Given the description of an element on the screen output the (x, y) to click on. 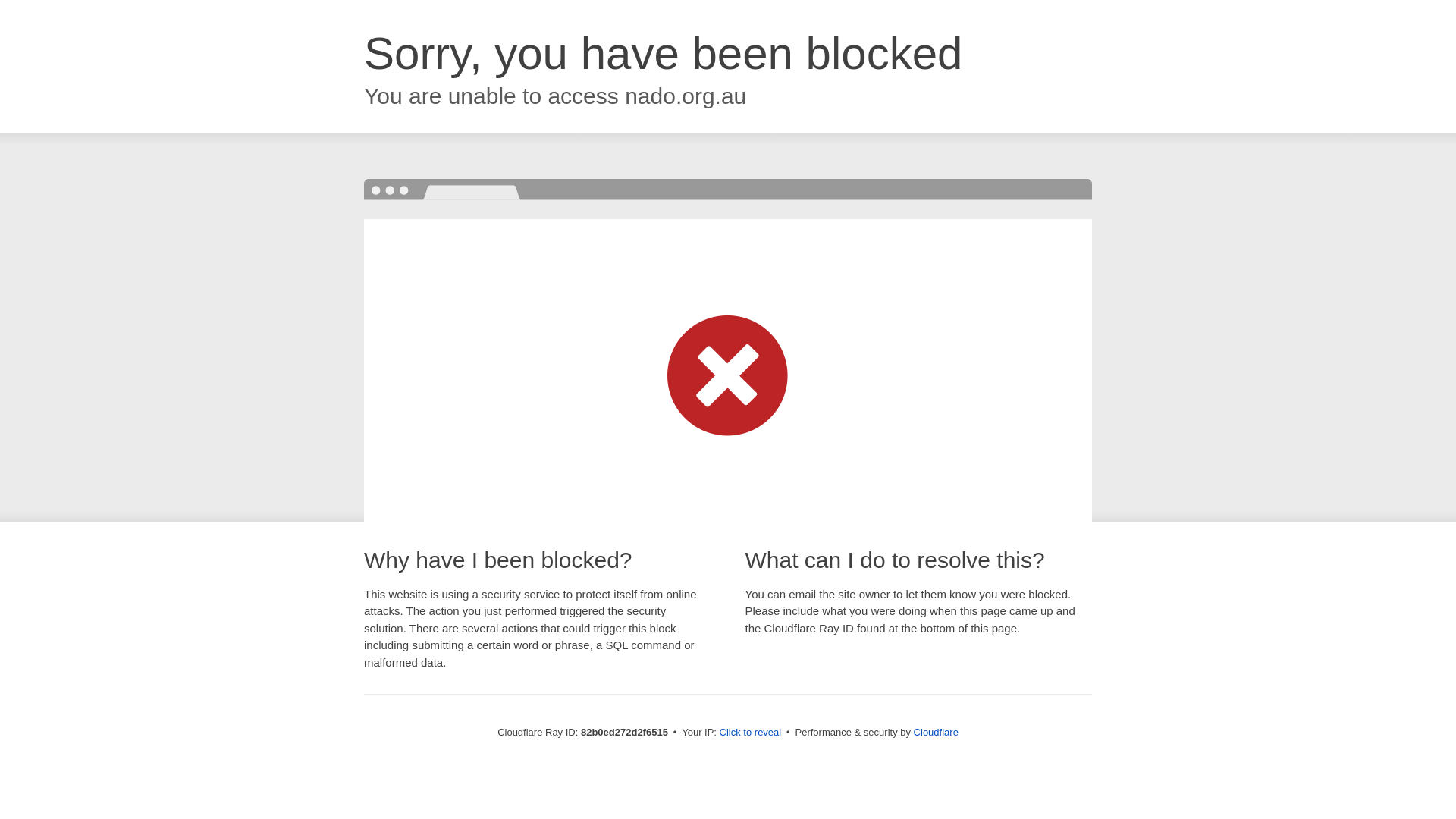
Cloudflare Element type: text (935, 731)
Click to reveal Element type: text (750, 732)
